Given the description of an element on the screen output the (x, y) to click on. 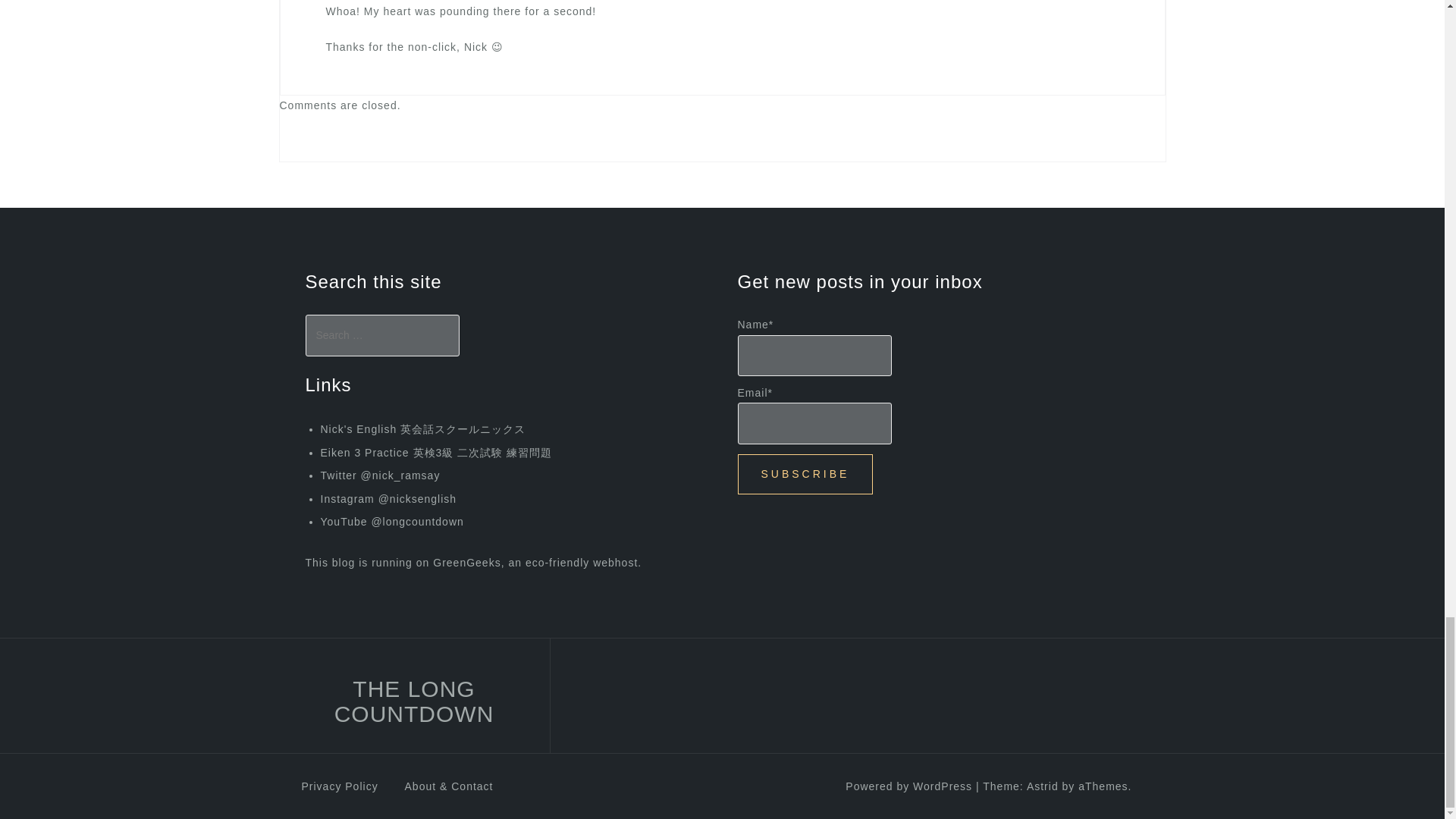
Subscribe (804, 474)
Subscribe (804, 474)
My old YouTube channel (391, 521)
GreenGeeks (466, 562)
Astrid (1042, 786)
THE LONG COUNTDOWN (414, 701)
Follow me on Twitter (379, 475)
Follow me and my school on Instagram (388, 499)
Privacy Policy (339, 786)
Powered by WordPress (908, 786)
